Given the description of an element on the screen output the (x, y) to click on. 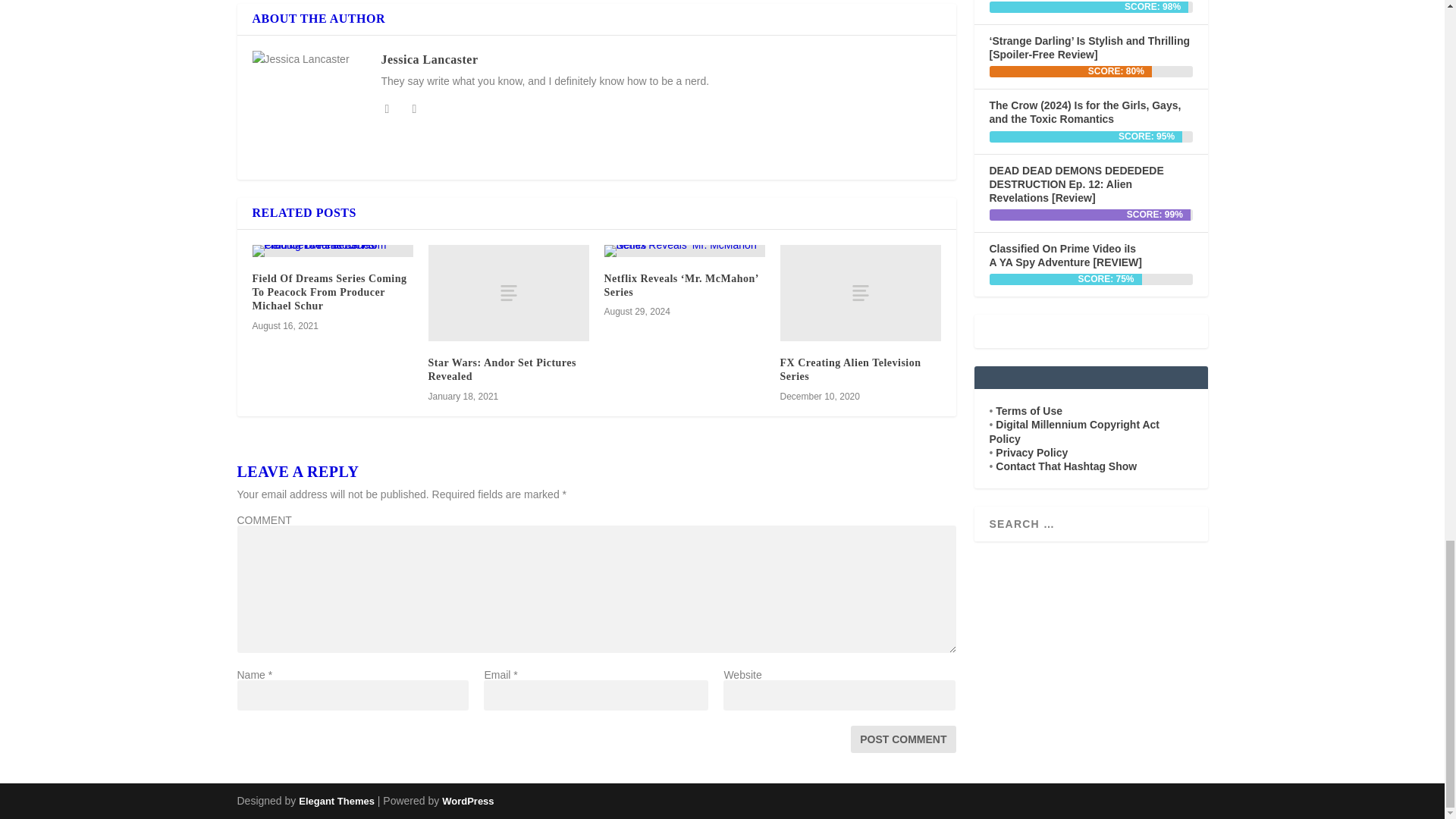
Post Comment (902, 738)
View all posts by Jessica Lancaster (428, 59)
Jessica Lancaster (428, 59)
